Given the description of an element on the screen output the (x, y) to click on. 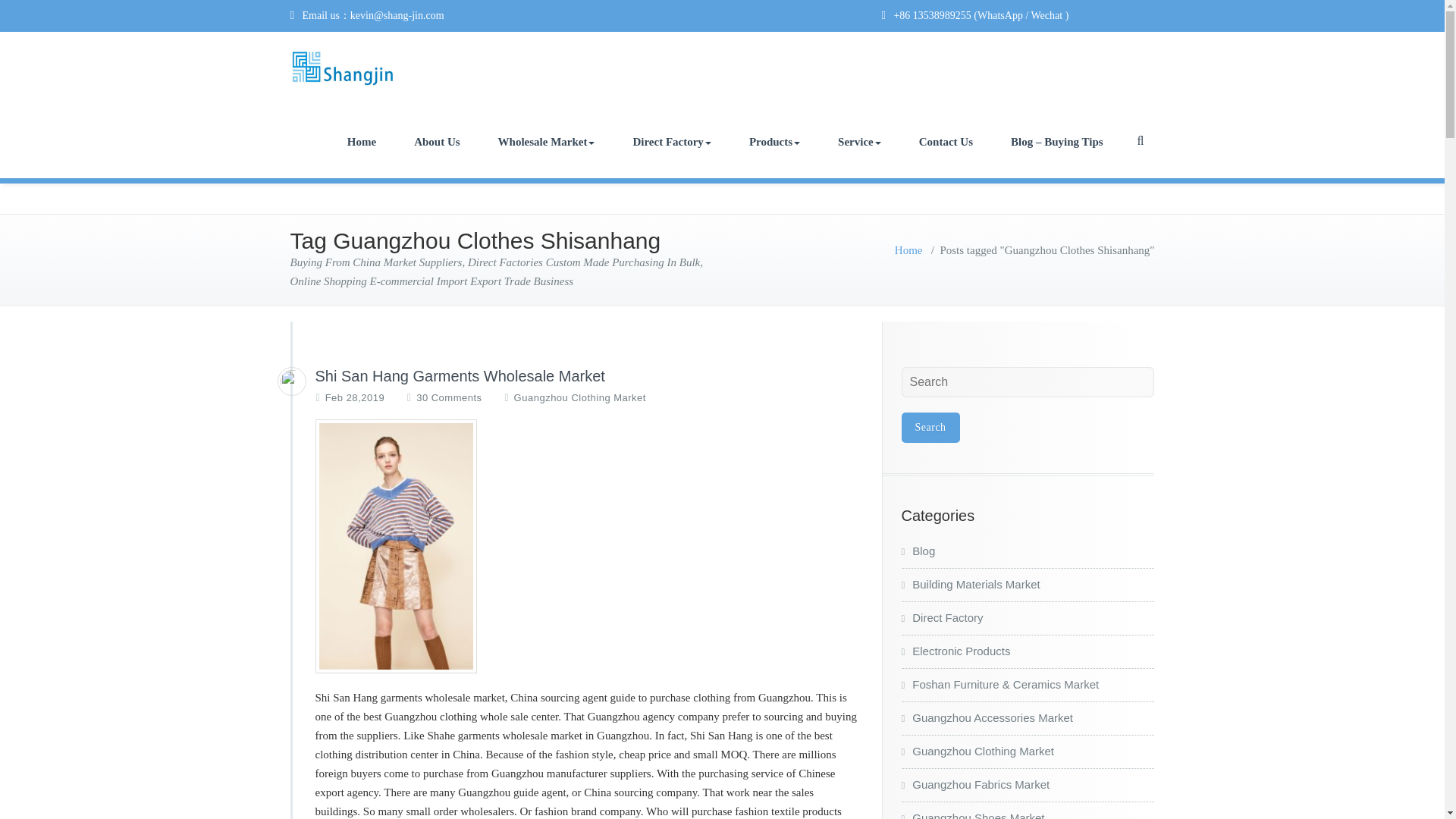
Largest wholesale markets resell center in Guangzhou China (546, 141)
Search (930, 427)
Wholesale Market (546, 141)
Home (361, 141)
About Us (436, 141)
Search (930, 427)
Hot selling, trendy and fashion products to resell (774, 141)
